Given the description of an element on the screen output the (x, y) to click on. 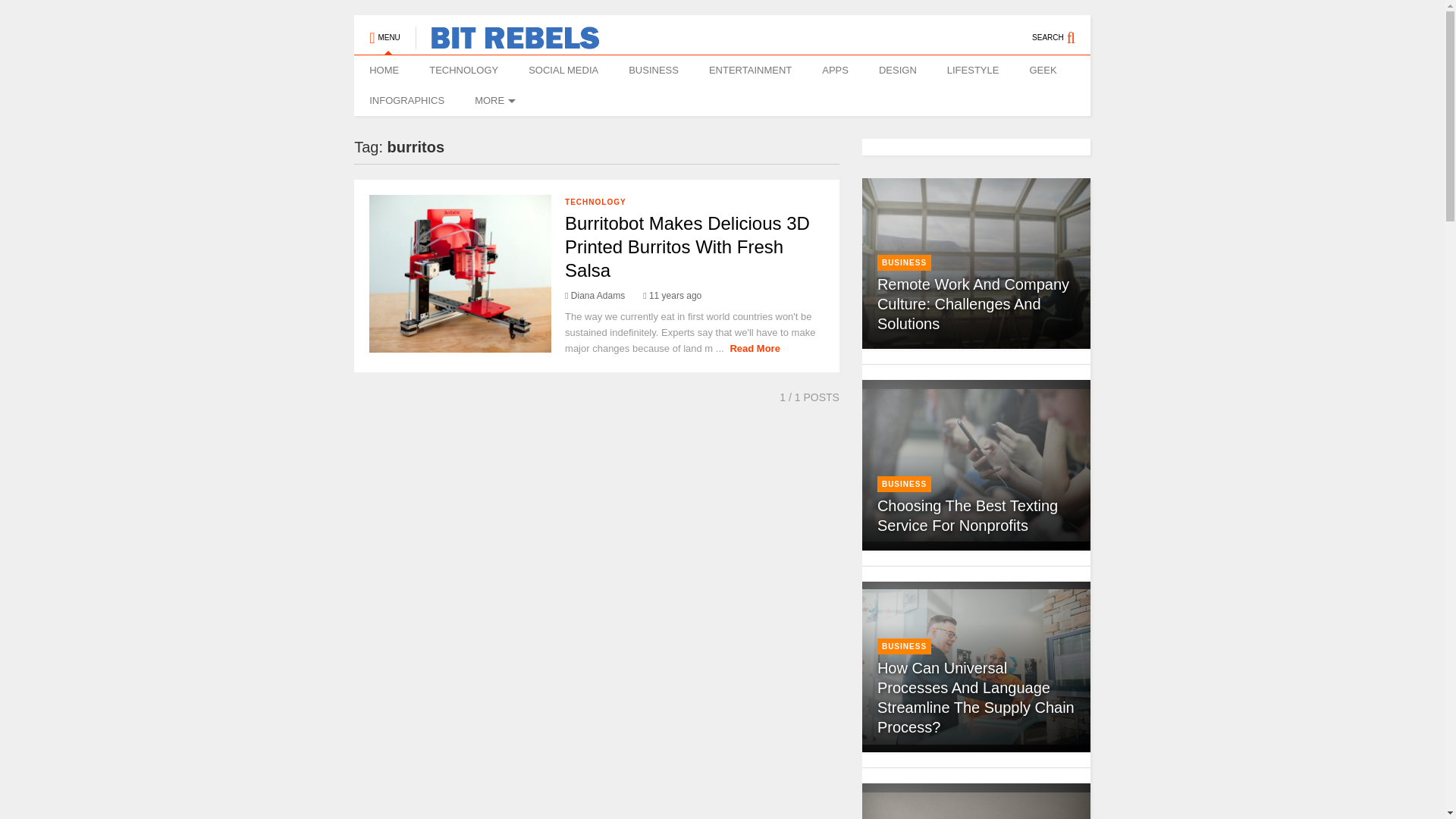
Choosing The Best Texting Service For Nonprofits (975, 465)
GEEK (1042, 70)
SOCIAL MEDIA (562, 70)
LIFESTYLE (972, 70)
ENTERTAINMENT (750, 70)
HOME (383, 70)
Bit Rebels (506, 42)
TECHNOLOGY (463, 70)
Remote Work And Company Culture: Challenges And Solutions (972, 304)
APPS (834, 70)
Diana Adams (594, 295)
